Given the description of an element on the screen output the (x, y) to click on. 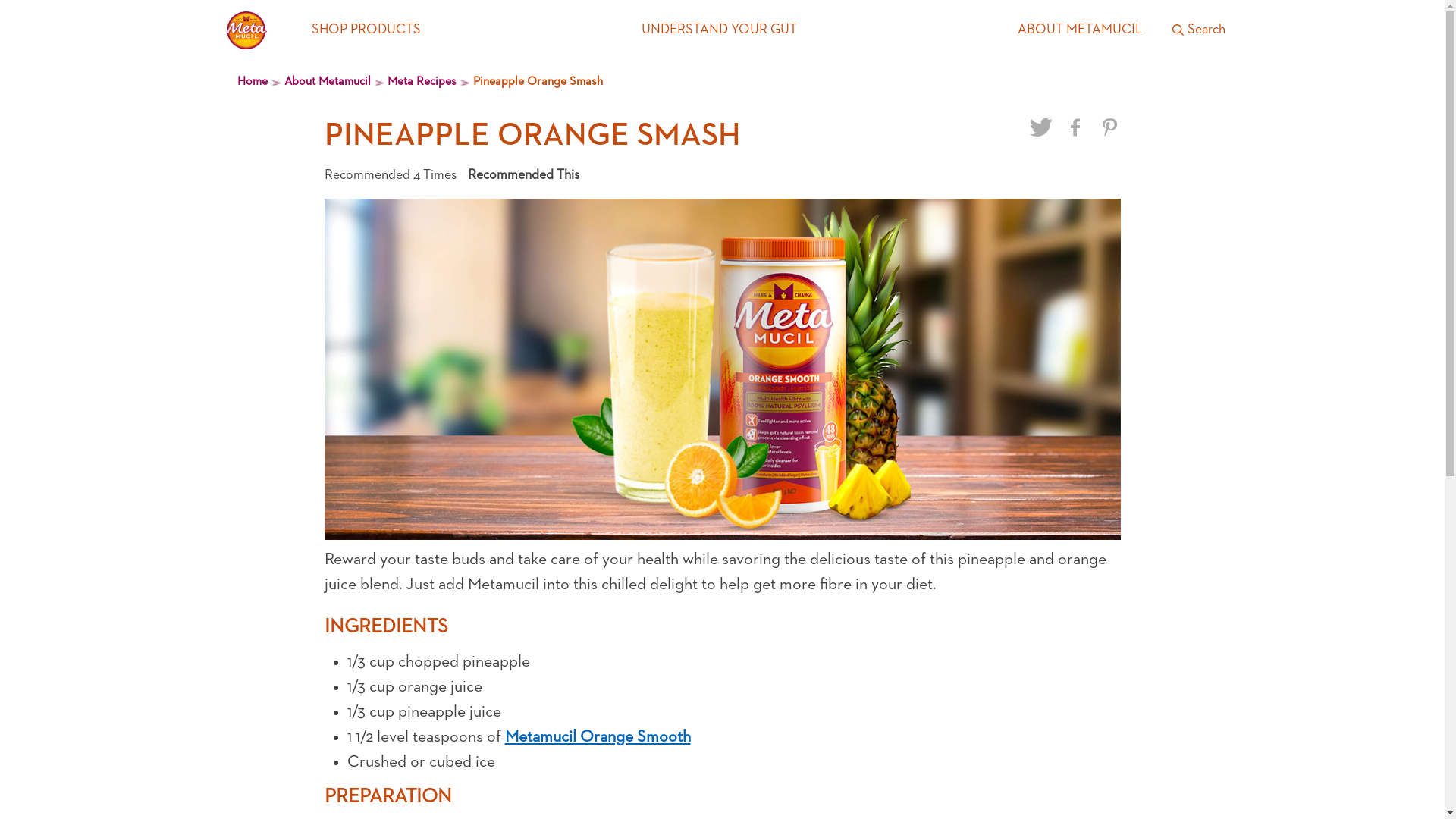
ABOUT METAMUCIL Element type: text (1079, 29)
Skip to content Element type: text (49, 14)
Metamucil Orange Smooth Element type: text (597, 736)
SHOP PRODUCTS Element type: text (365, 29)
UNDERSTAND YOUR GUT Element type: text (719, 29)
ABOUT METAMUCIL Element type: text (1079, 29)
Search Element type: text (1198, 29)
UNDERSTAND YOUR GUT Element type: text (719, 29)
Brand Logo Element type: hover (246, 30)
SHOP PRODUCTS Element type: text (365, 29)
